Given the description of an element on the screen output the (x, y) to click on. 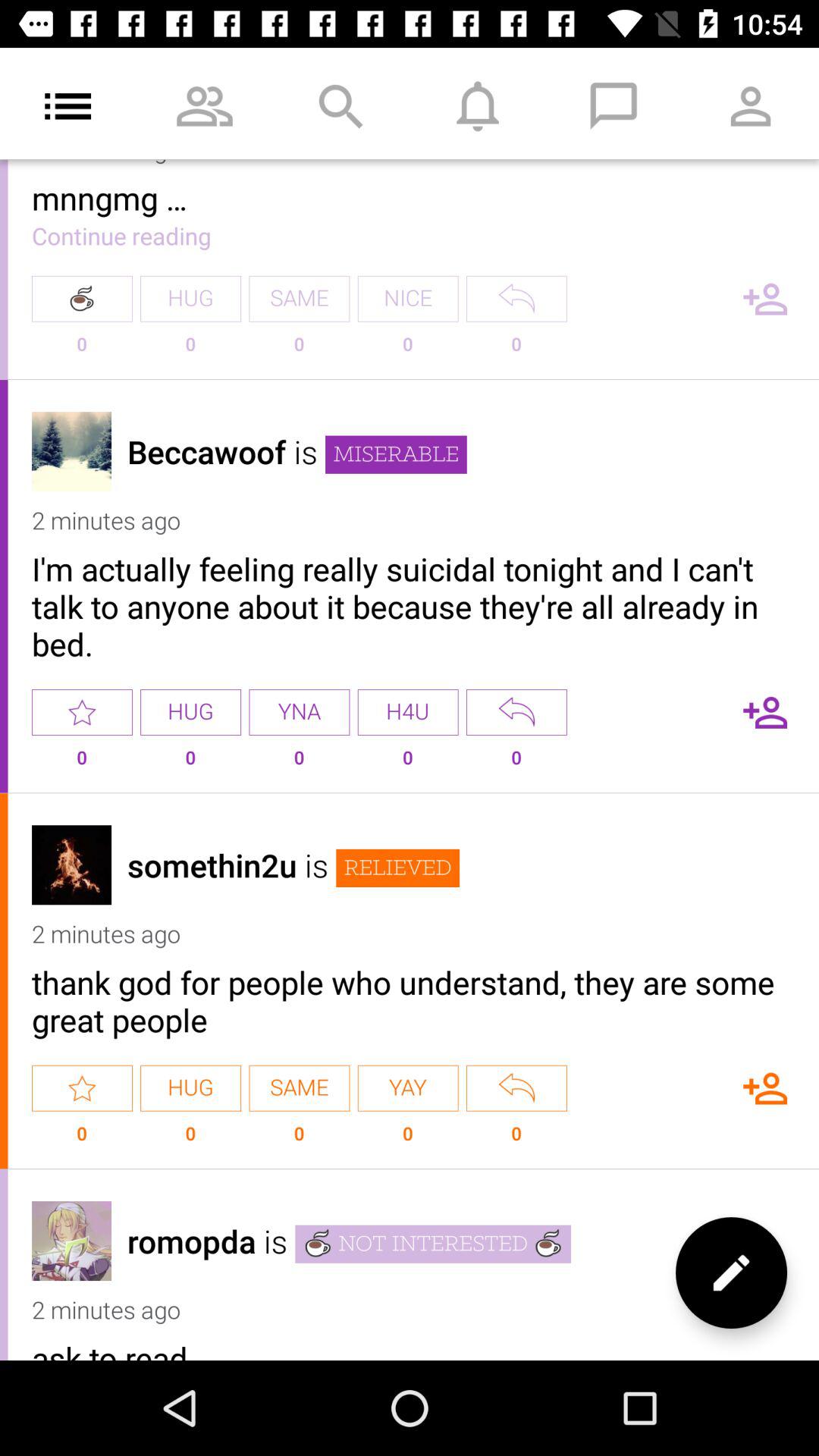
add as friend (765, 1088)
